Given the description of an element on the screen output the (x, y) to click on. 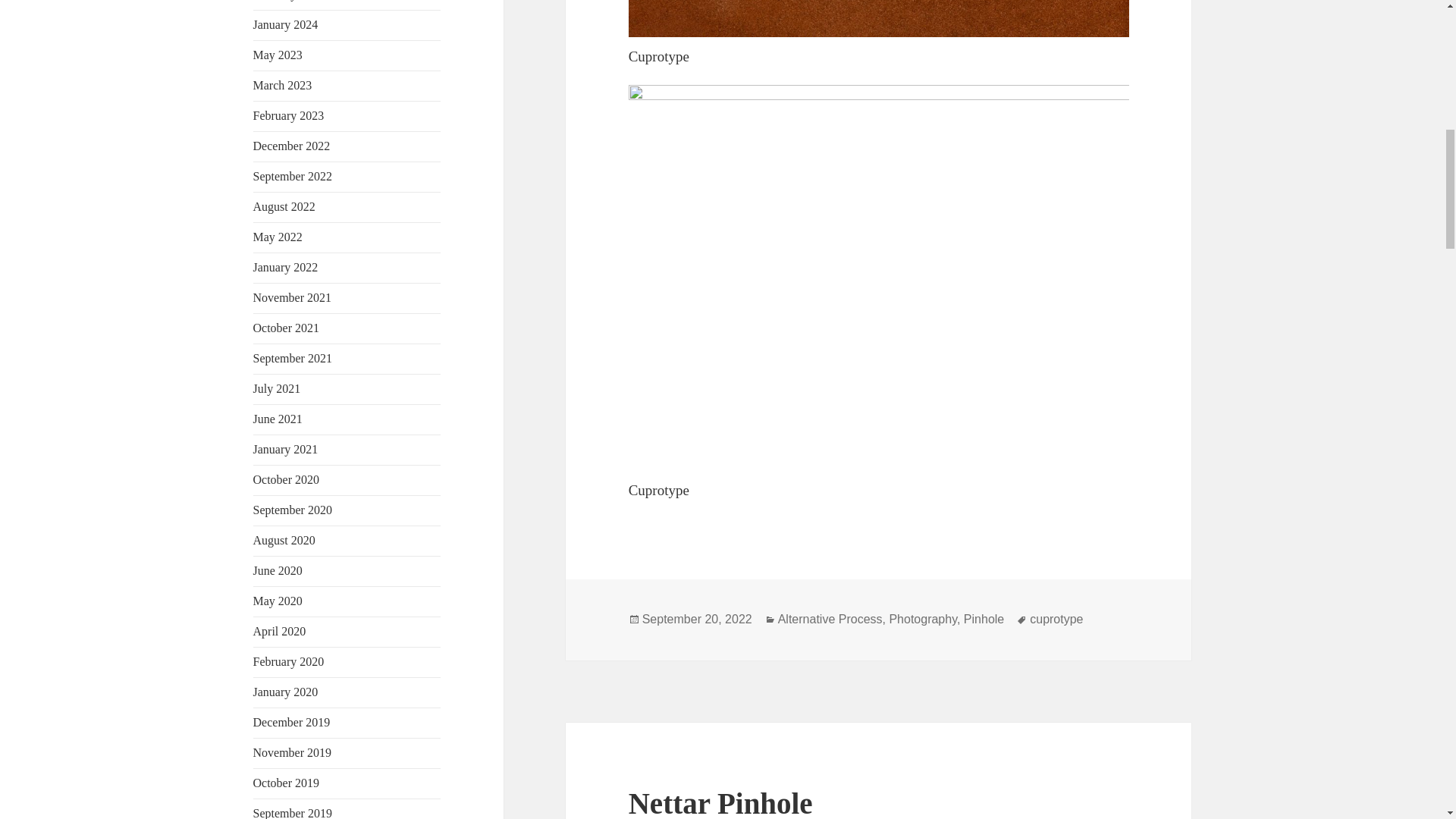
June 2021 (277, 418)
June 2020 (277, 570)
March 2023 (283, 84)
September 2021 (292, 358)
August 2022 (284, 205)
December 2019 (291, 721)
February 2024 (288, 0)
December 2022 (291, 145)
November 2021 (292, 297)
October 2021 (286, 327)
